Given the description of an element on the screen output the (x, y) to click on. 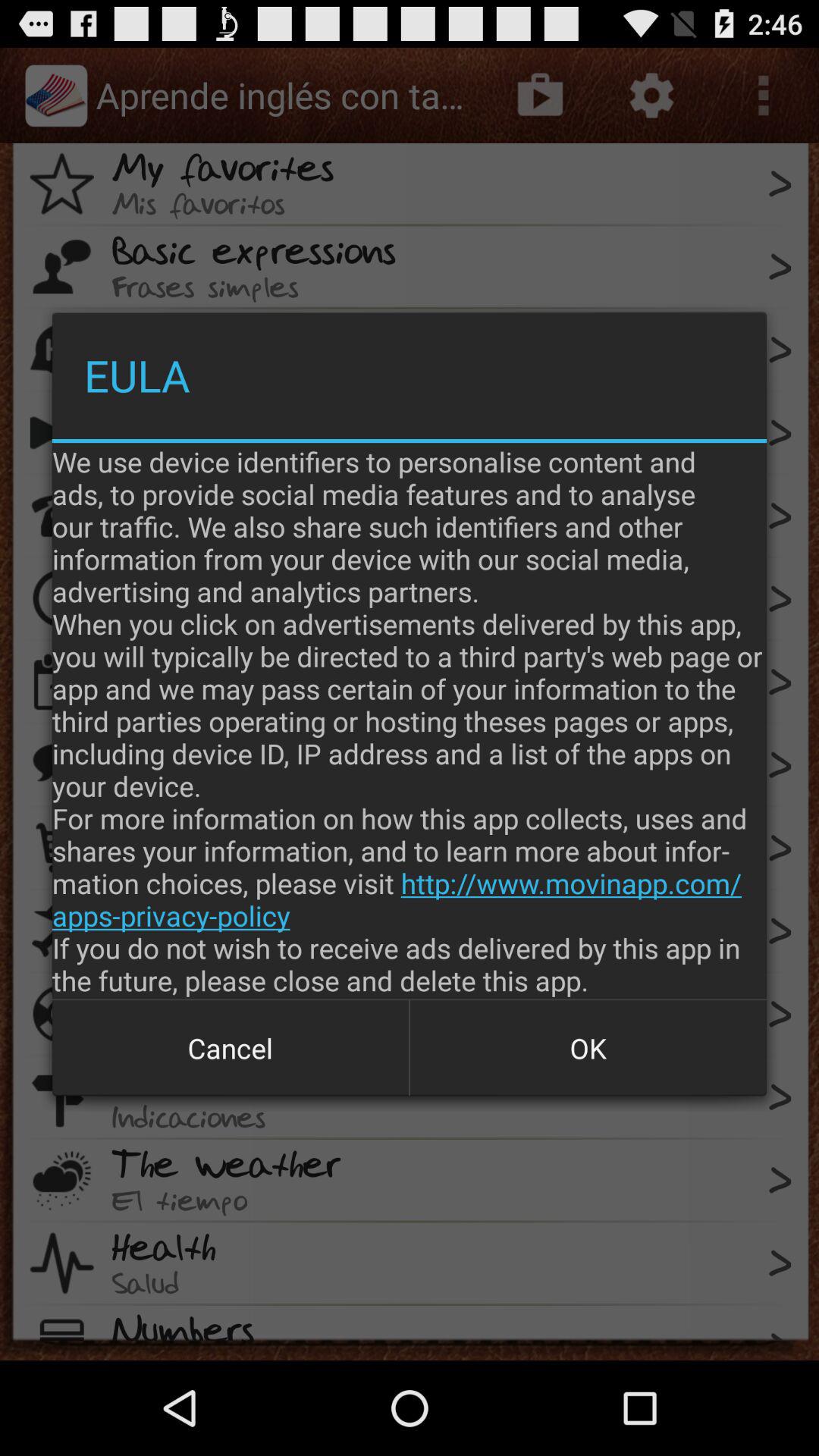
select we use device item (409, 721)
